Given the description of an element on the screen output the (x, y) to click on. 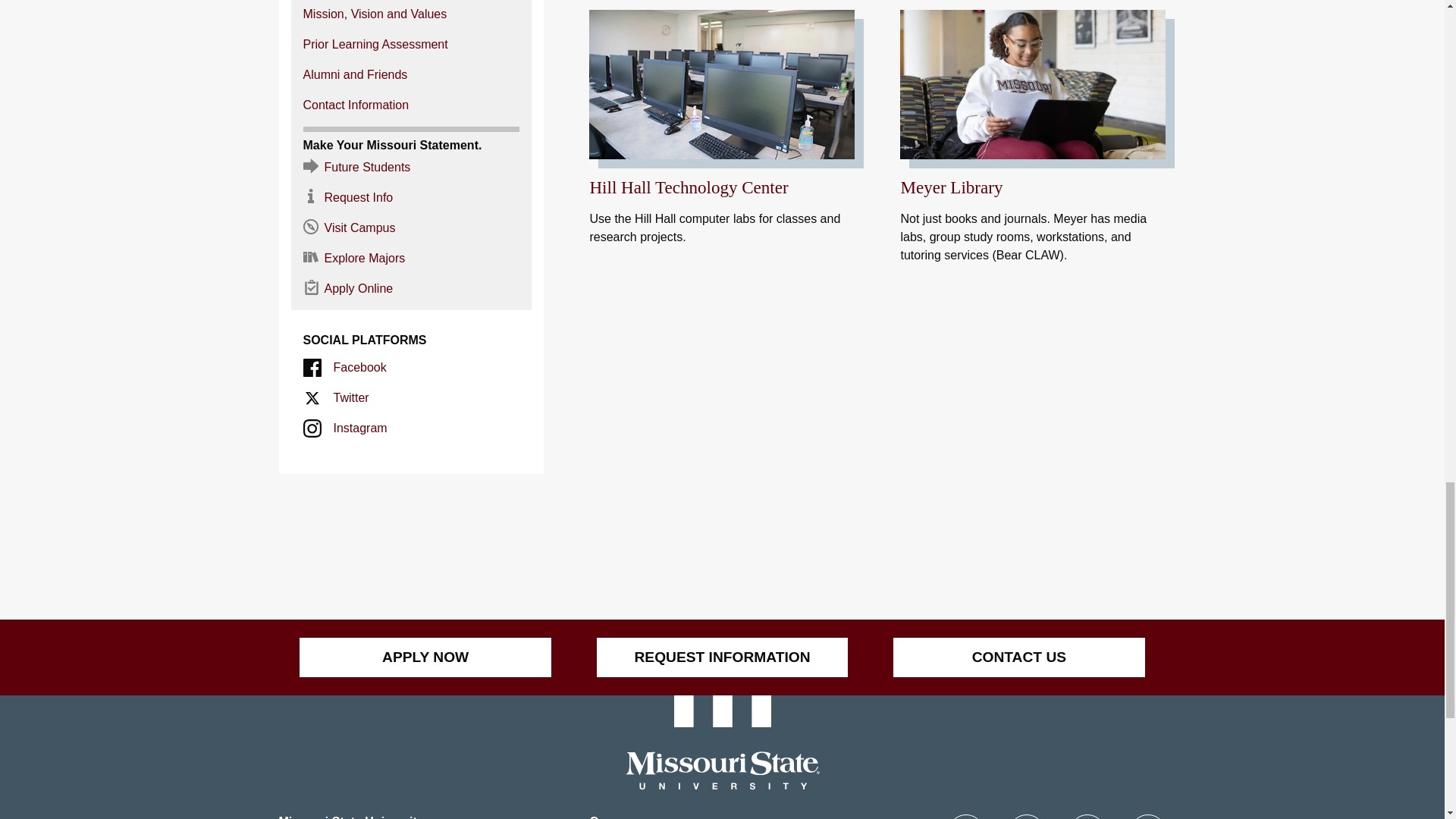
Follow Missouri State on X (1027, 816)
Follow Missouri State on Facebook (965, 816)
Follow Missouri State on TikTok (1147, 816)
Follow Missouri State on Instagram (1086, 816)
